Given the description of an element on the screen output the (x, y) to click on. 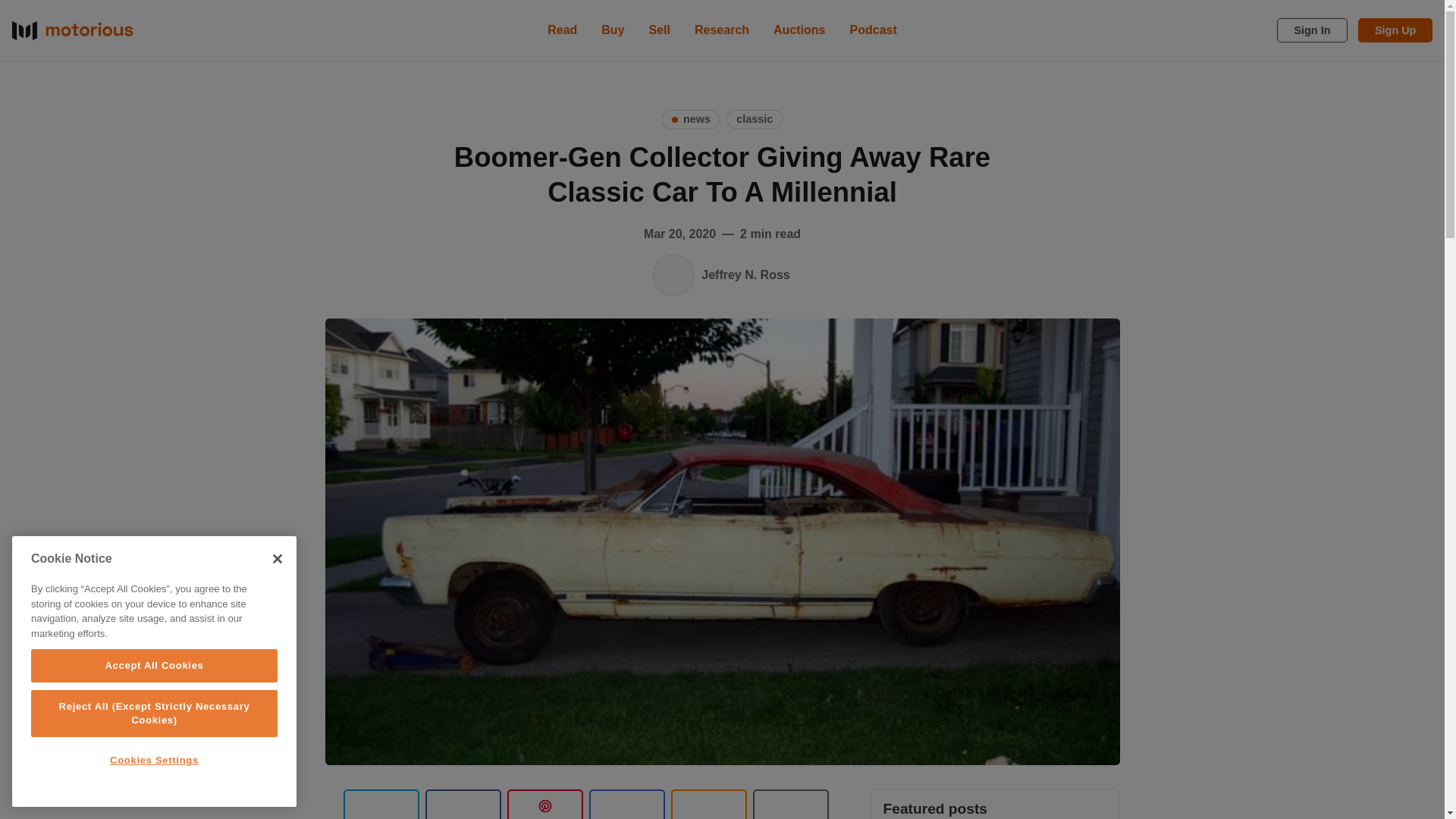
Sign Up (1395, 30)
Jeffrey N. Ross (673, 275)
Podcast (873, 29)
Copy to clipboard (707, 804)
Share on Twitter (380, 804)
news (690, 118)
Share on Facebook (462, 804)
Buy (612, 29)
news (690, 118)
classic (754, 118)
